Given the description of an element on the screen output the (x, y) to click on. 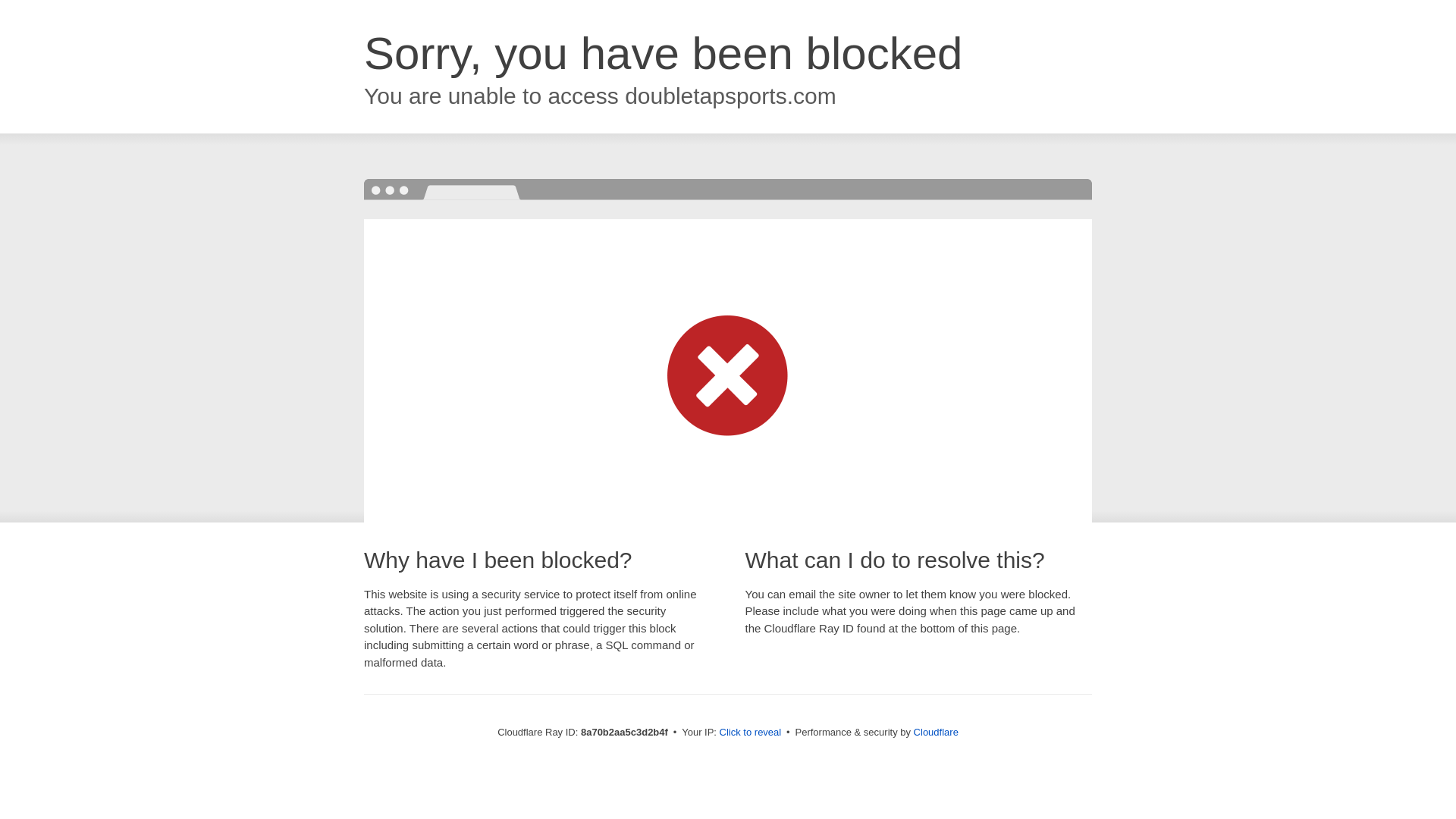
Click to reveal (750, 732)
Cloudflare (936, 731)
